Given the description of an element on the screen output the (x, y) to click on. 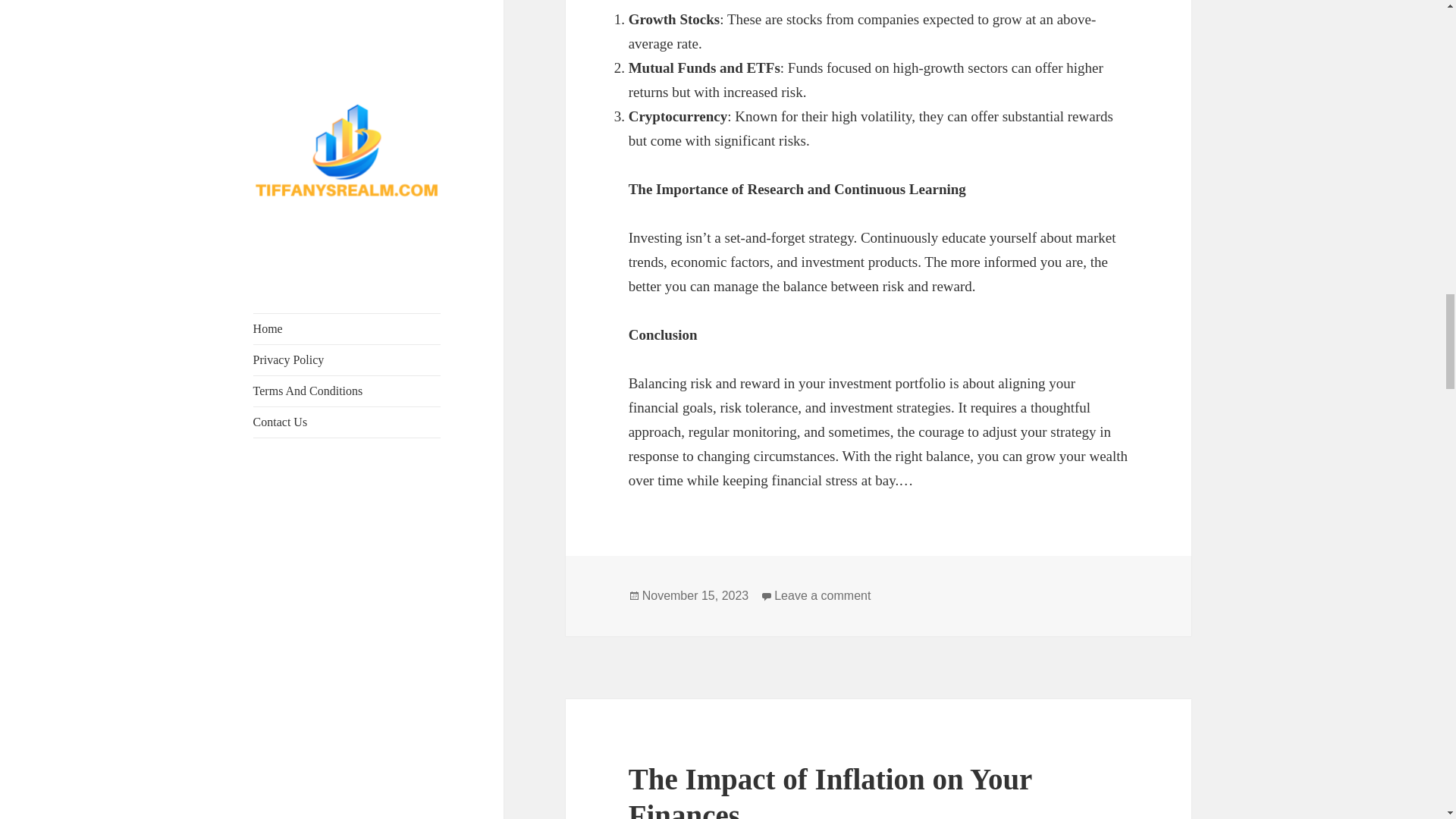
November 15, 2023 (695, 595)
The Impact of Inflation on Your Finances (830, 790)
